Given the description of an element on the screen output the (x, y) to click on. 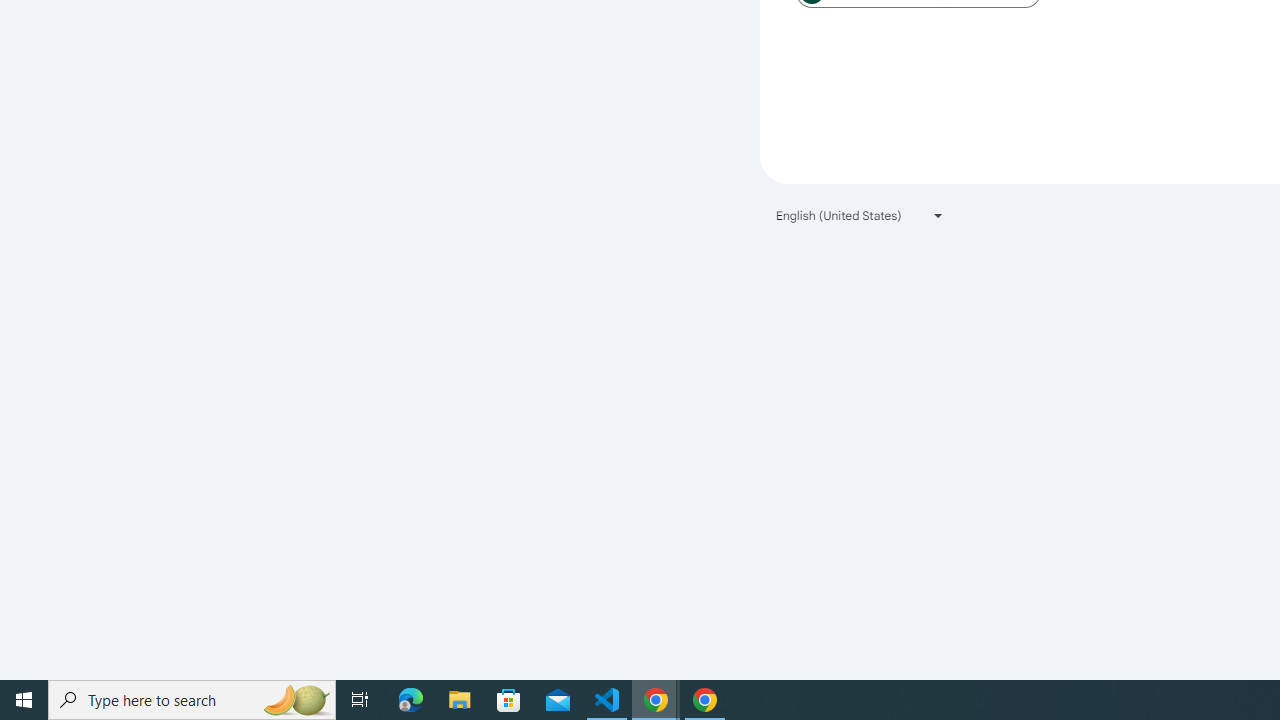
English (United States) (860, 214)
